Given the description of an element on the screen output the (x, y) to click on. 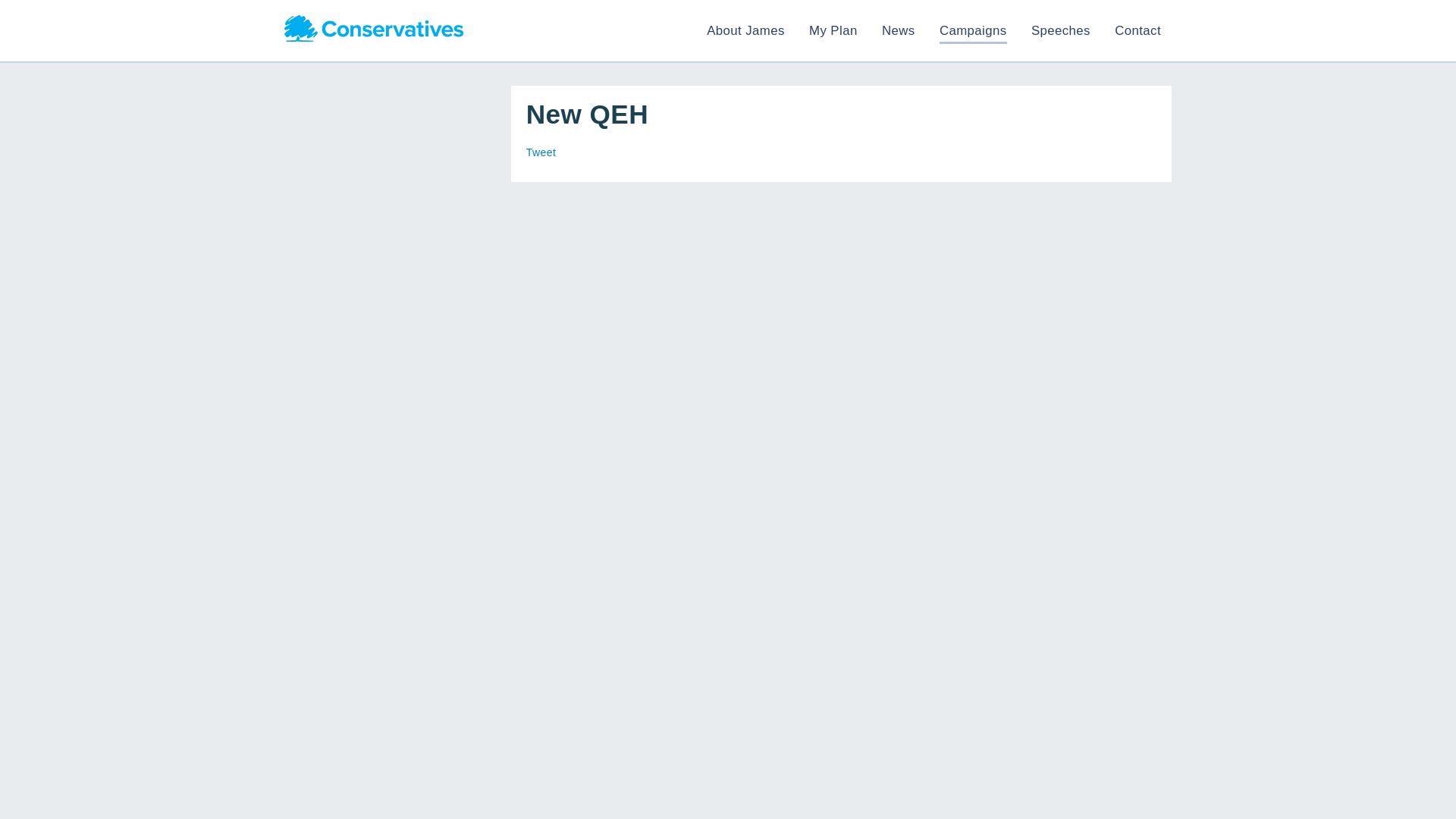
Campaigns (973, 30)
About James (745, 30)
Tweet (540, 152)
Contact (1137, 30)
Speeches (1060, 30)
Parliamentary speeches by James Wild MP (1060, 30)
News (898, 30)
My Plan (833, 30)
